Given the description of an element on the screen output the (x, y) to click on. 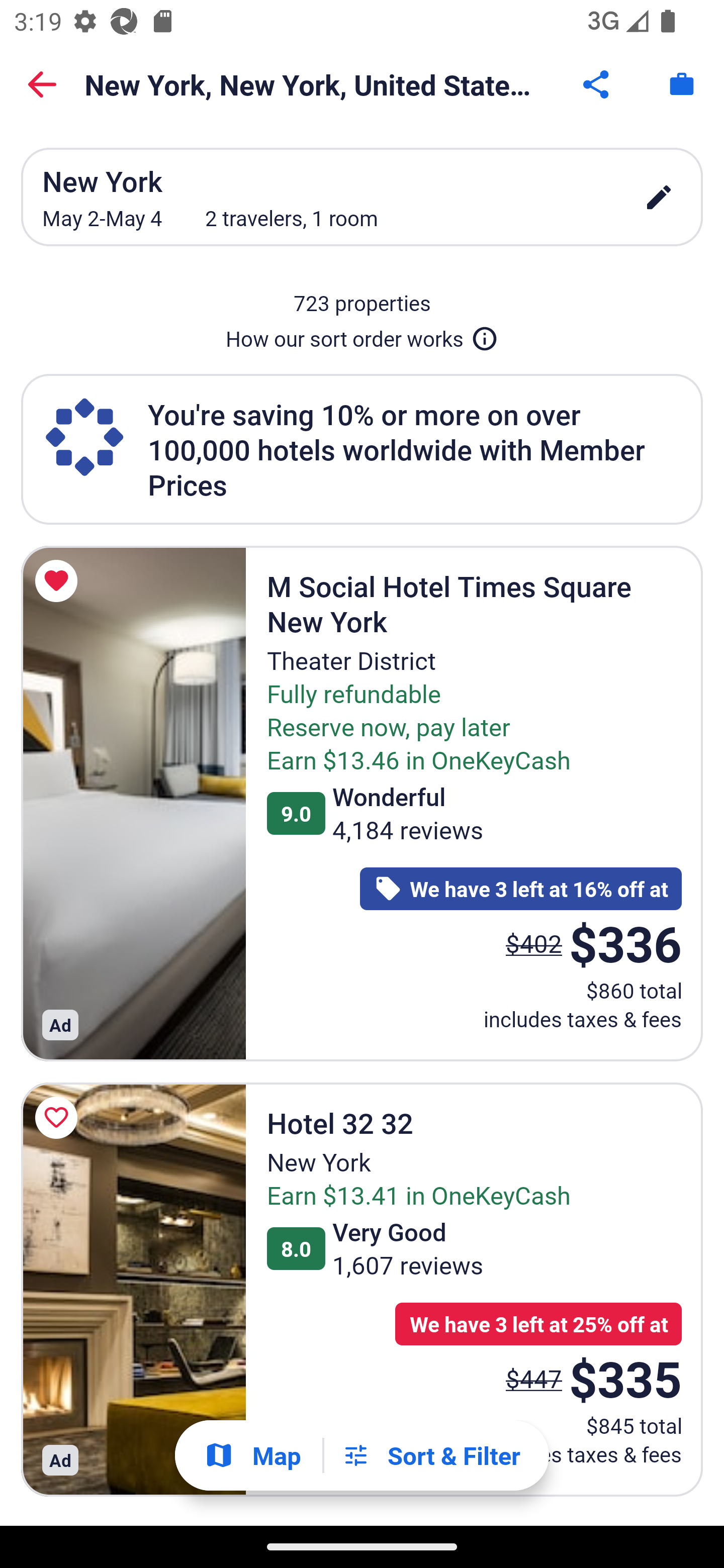
Back (42, 84)
Share Button (597, 84)
Trips. Button (681, 84)
New York May 2-May 4 2 travelers, 1 room edit (361, 196)
How our sort order works (361, 334)
M Social Hotel Times Square New York (133, 803)
$402 The price was $402 (533, 943)
Save Hotel 32 32 to a trip (59, 1117)
Hotel 32 32 (133, 1288)
$447 The price was $447 (533, 1377)
Filters Sort & Filter Filters Button (430, 1455)
Show map Map Show map Button (252, 1455)
